Given the description of an element on the screen output the (x, y) to click on. 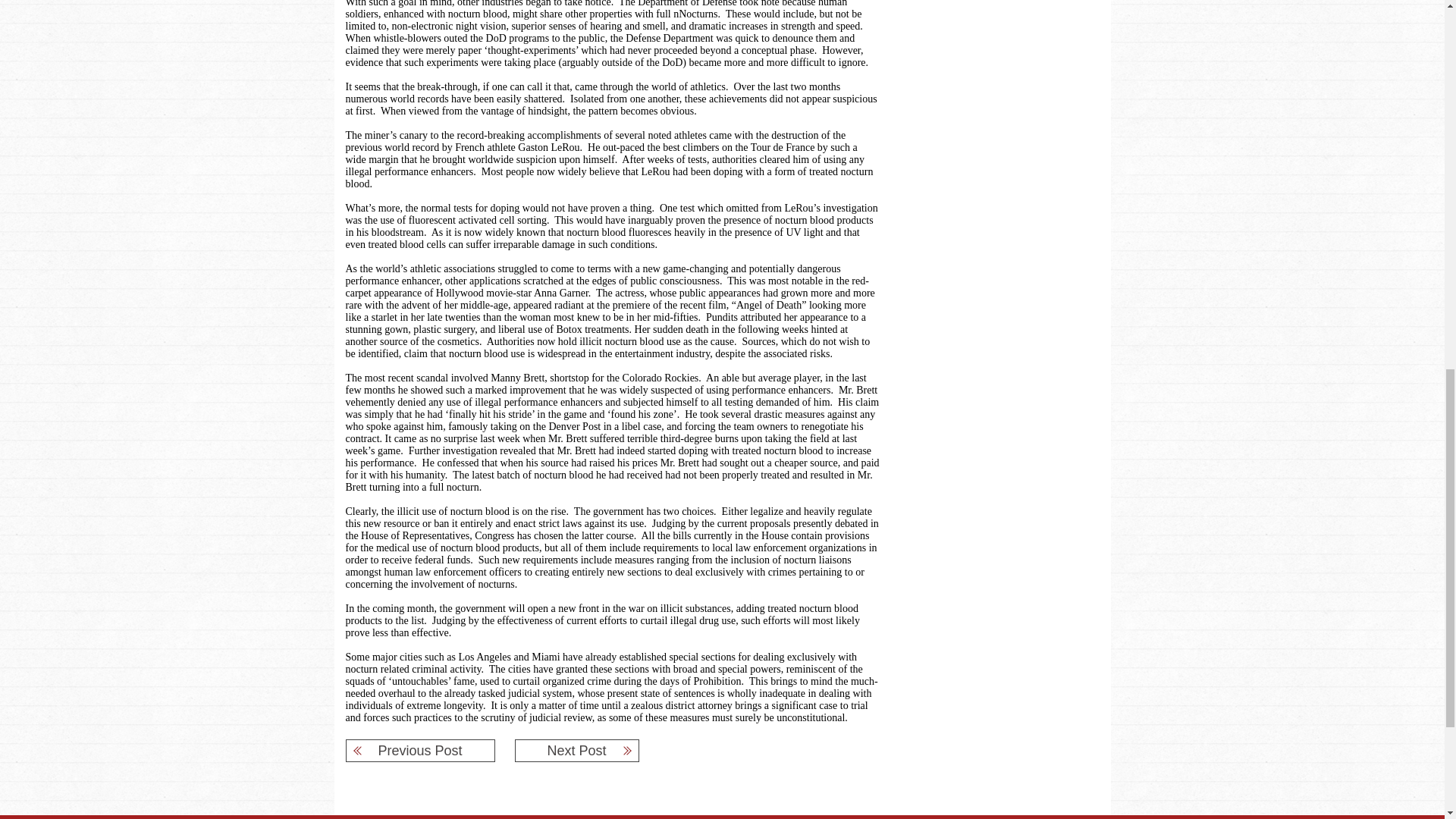
Next Post (577, 750)
Previous Post (420, 750)
An Interview with Mr. Black (577, 750)
